Given the description of an element on the screen output the (x, y) to click on. 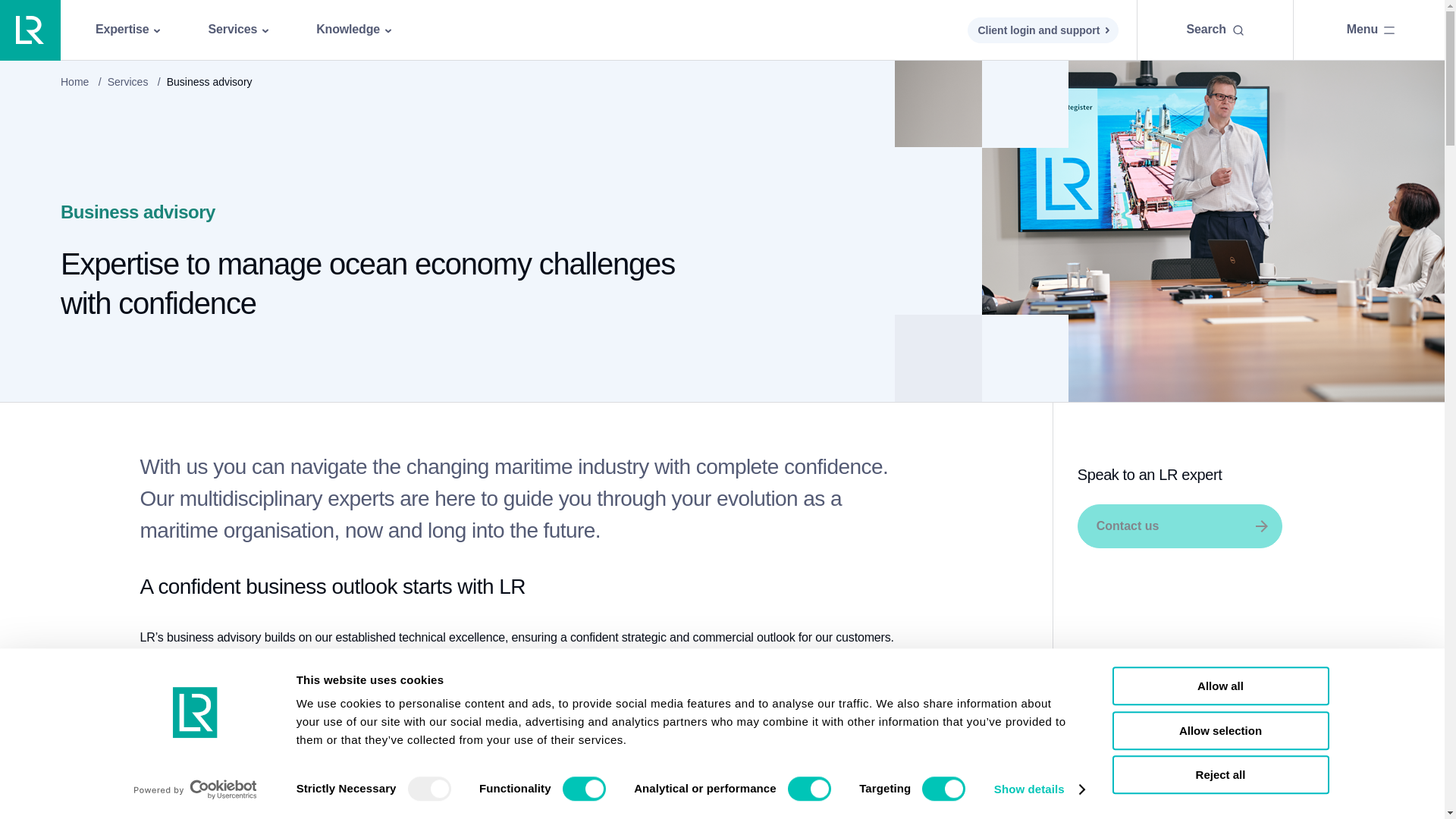
Show details (1038, 789)
